Given the description of an element on the screen output the (x, y) to click on. 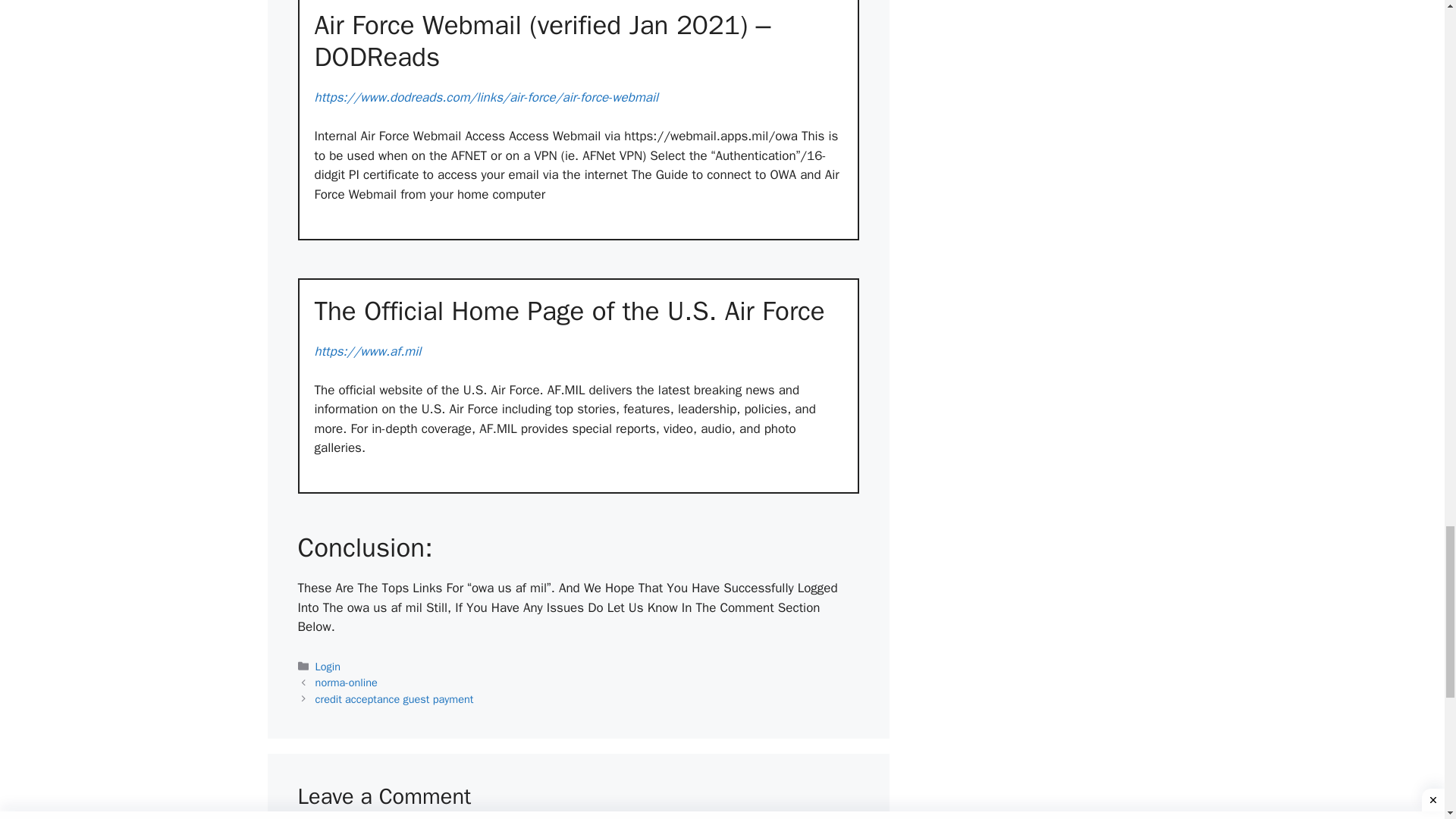
Login (327, 666)
credit acceptance guest payment (394, 698)
norma-online (346, 682)
